Given the description of an element on the screen output the (x, y) to click on. 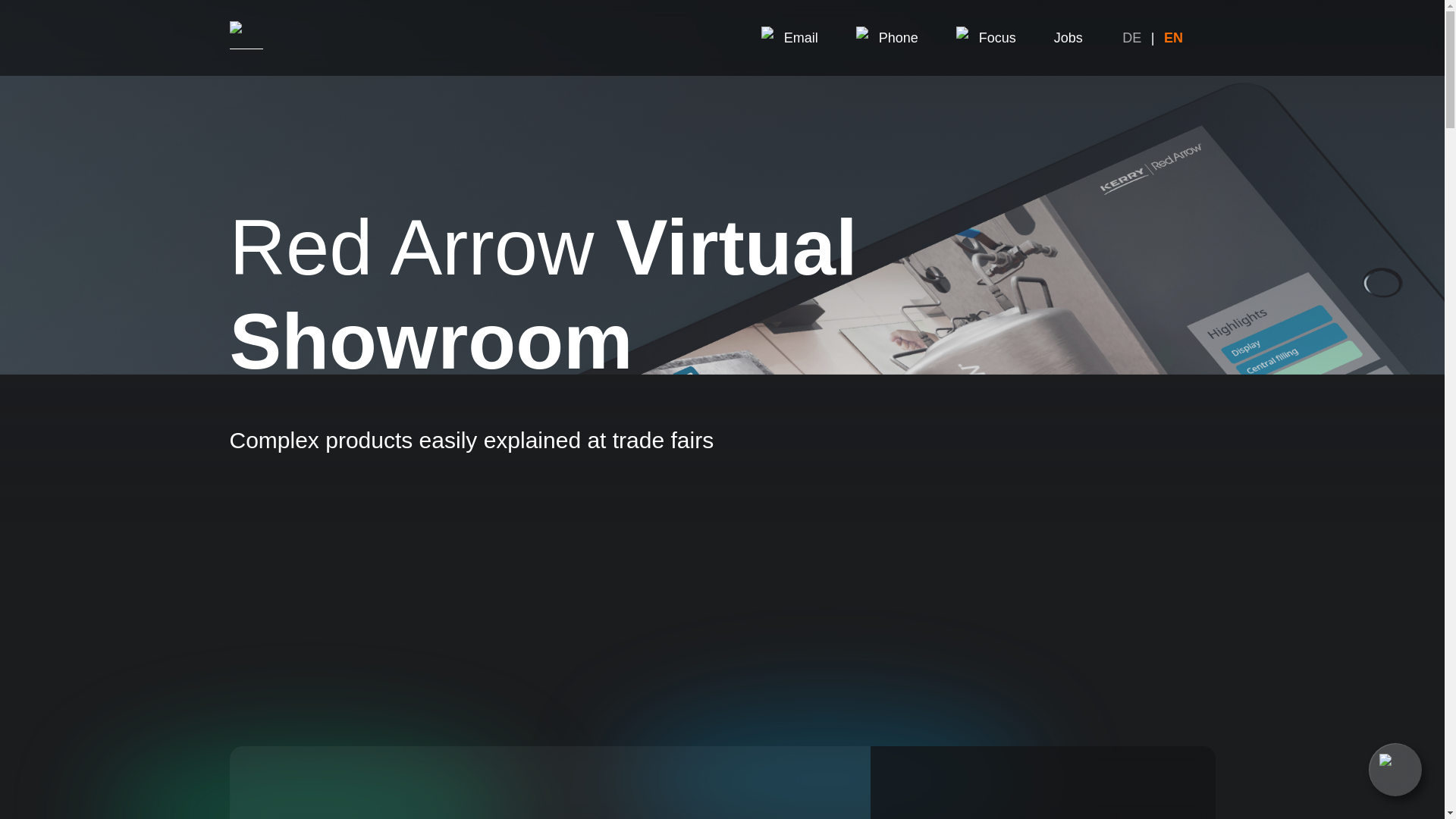
Product visualization (544, 368)
Alchemisten AG on Behance (760, 439)
Jobs (1068, 37)
Ditigal sales (517, 409)
Alchemisten AG on Twitter (919, 385)
Oldenburg Knights (1100, 420)
Alchemisten AG on SoundCloud (919, 439)
Email (789, 37)
Jobs (496, 430)
Imprint (963, 765)
